Given the description of an element on the screen output the (x, y) to click on. 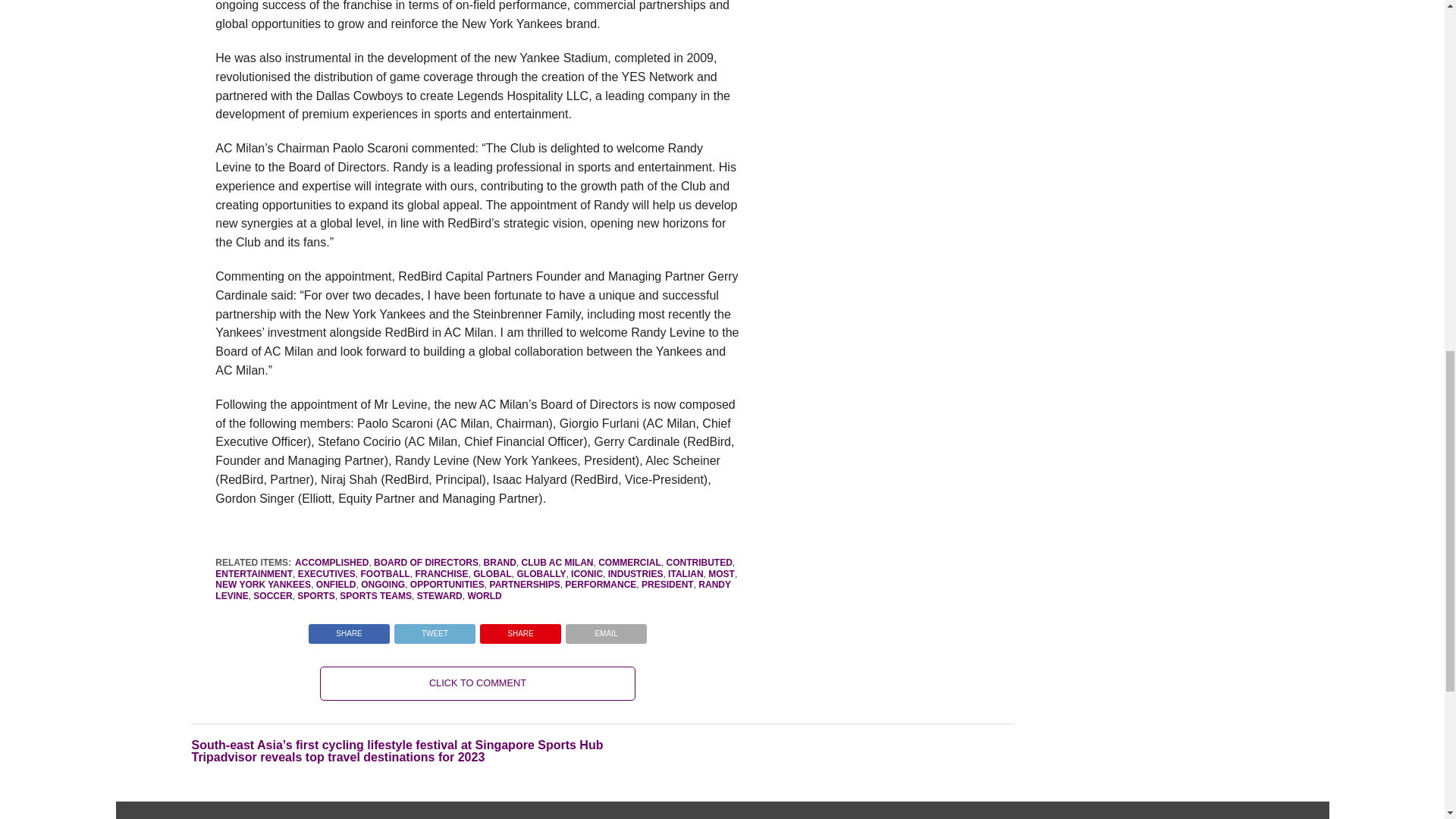
CLUB AC MILAN (557, 562)
ACCOMPLISHED (331, 562)
Share on Facebook (349, 629)
EXECUTIVES (326, 573)
ENTERTAINMENT (253, 573)
CONTRIBUTED (698, 562)
COMMERCIAL (629, 562)
Pin This Post (520, 629)
BOARD OF DIRECTORS (426, 562)
Tweet This Post (434, 629)
BRAND (499, 562)
